Given the description of an element on the screen output the (x, y) to click on. 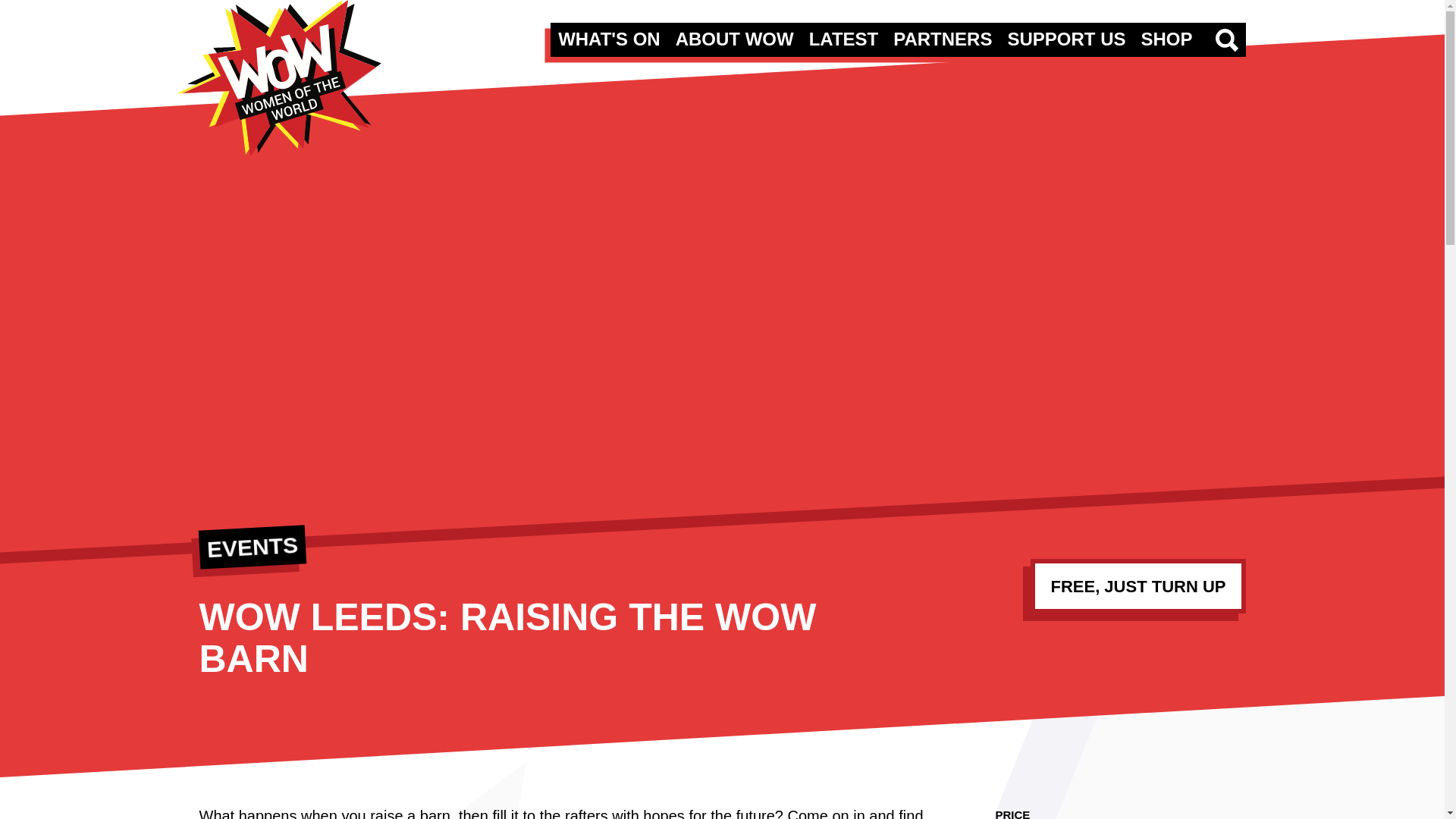
ABOUT WOW (734, 38)
EVENTS (251, 544)
PARTNERS (942, 38)
SUPPORT US (1066, 38)
FREE, JUST TURN UP (1137, 585)
LATEST (844, 38)
WHAT'S ON (609, 38)
SHOP (1166, 38)
THE WOW FOUNDATION (278, 78)
